Given the description of an element on the screen output the (x, y) to click on. 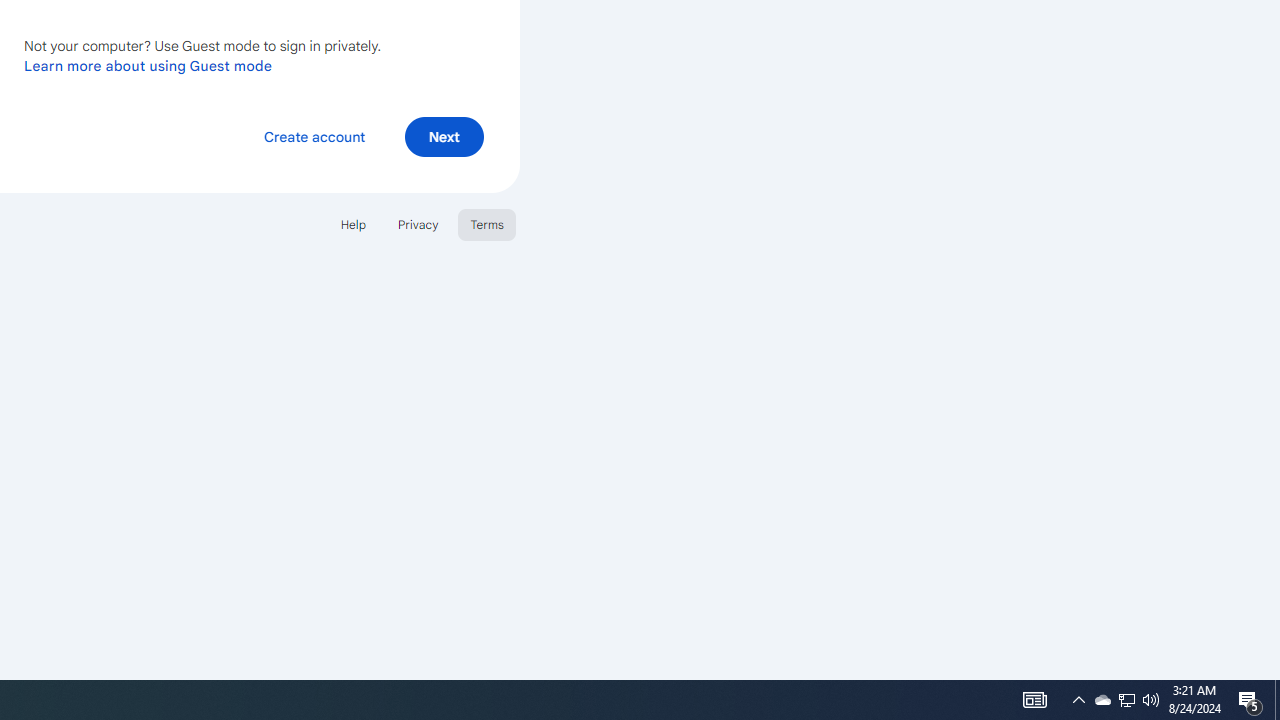
Create account (314, 135)
Learn more about using Guest mode (148, 65)
